Given the description of an element on the screen output the (x, y) to click on. 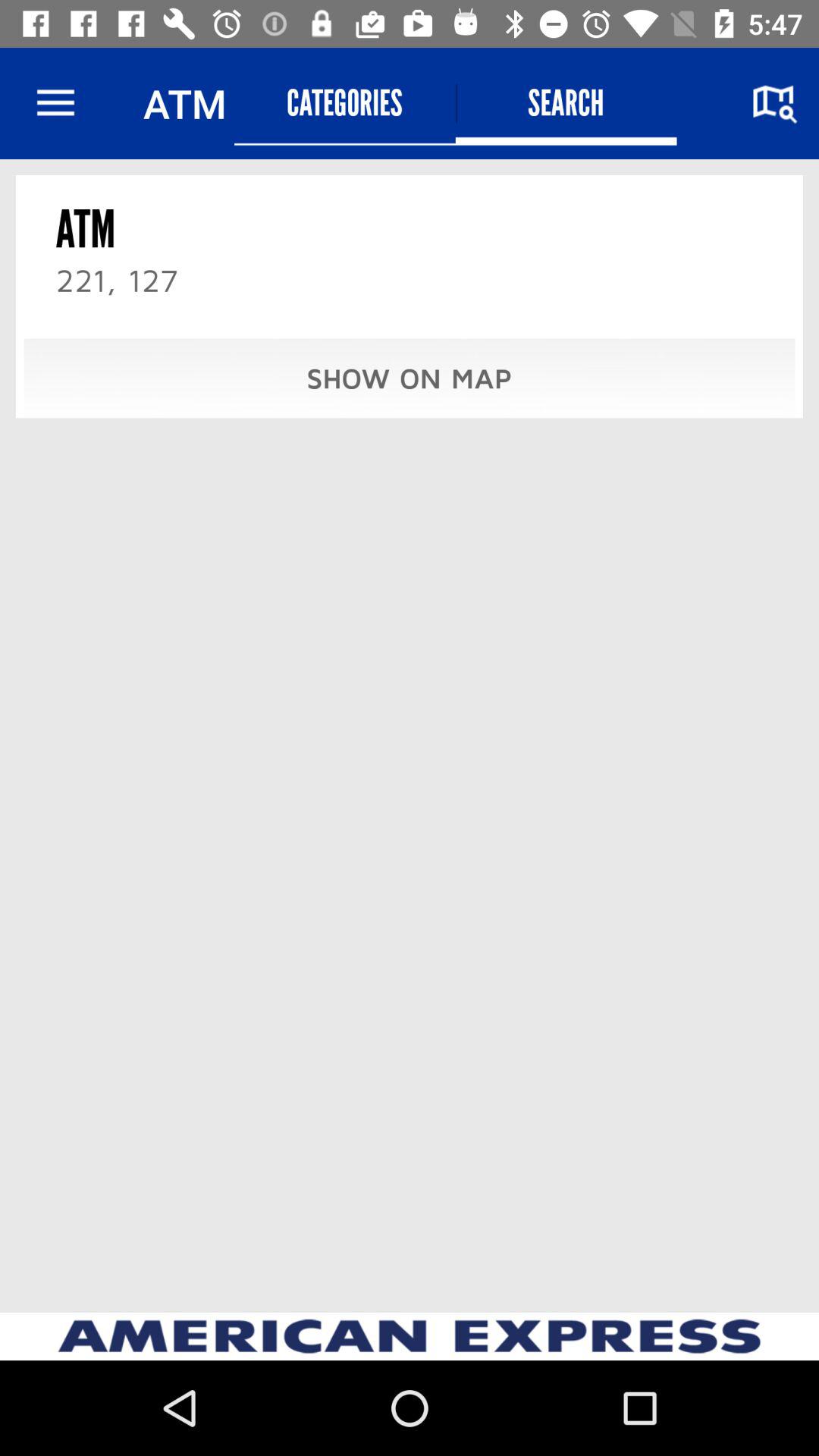
turn off categories icon (344, 103)
